Given the description of an element on the screen output the (x, y) to click on. 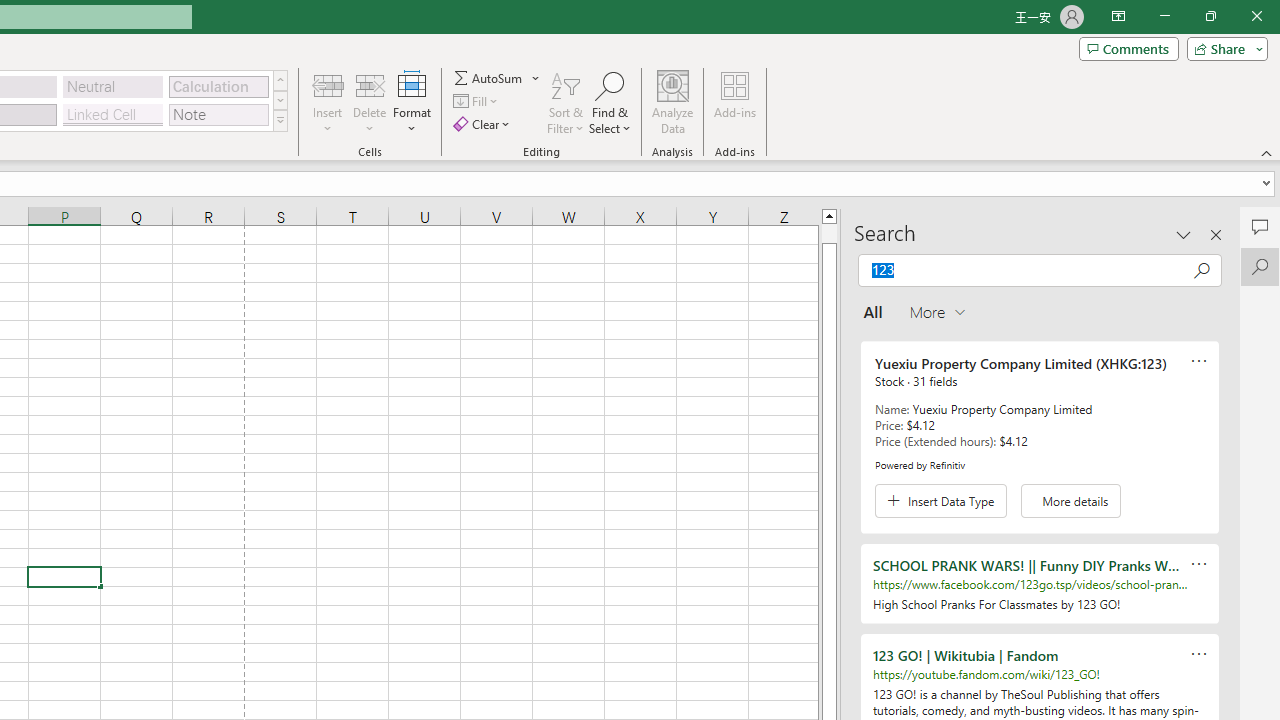
Note (218, 114)
Format (411, 102)
Linked Cell (113, 114)
Cell Styles (280, 120)
Calculation (218, 86)
Delete (369, 102)
Page up (829, 233)
